Given the description of an element on the screen output the (x, y) to click on. 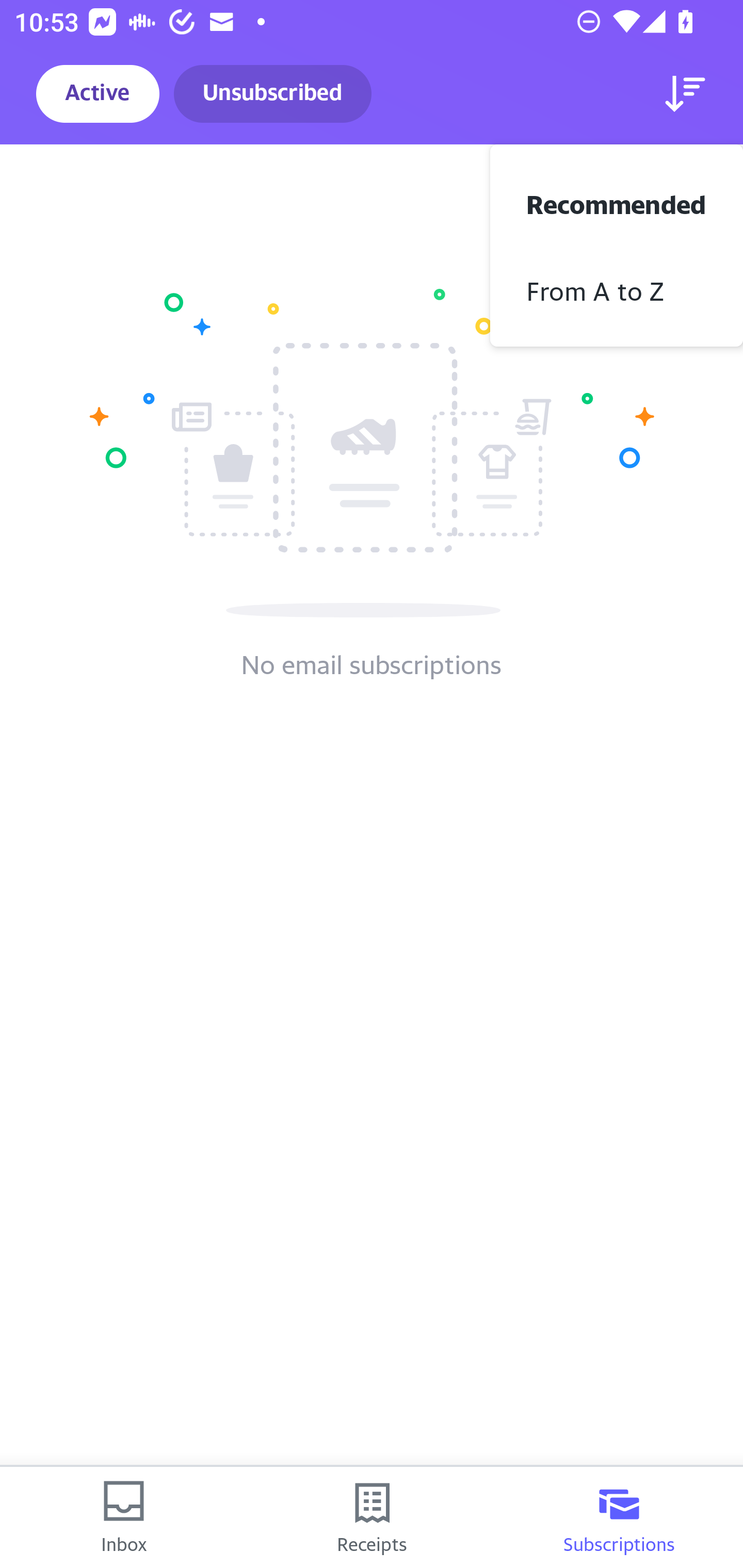
Recommended (616, 202)
From A to Z (616, 289)
